Given the description of an element on the screen output the (x, y) to click on. 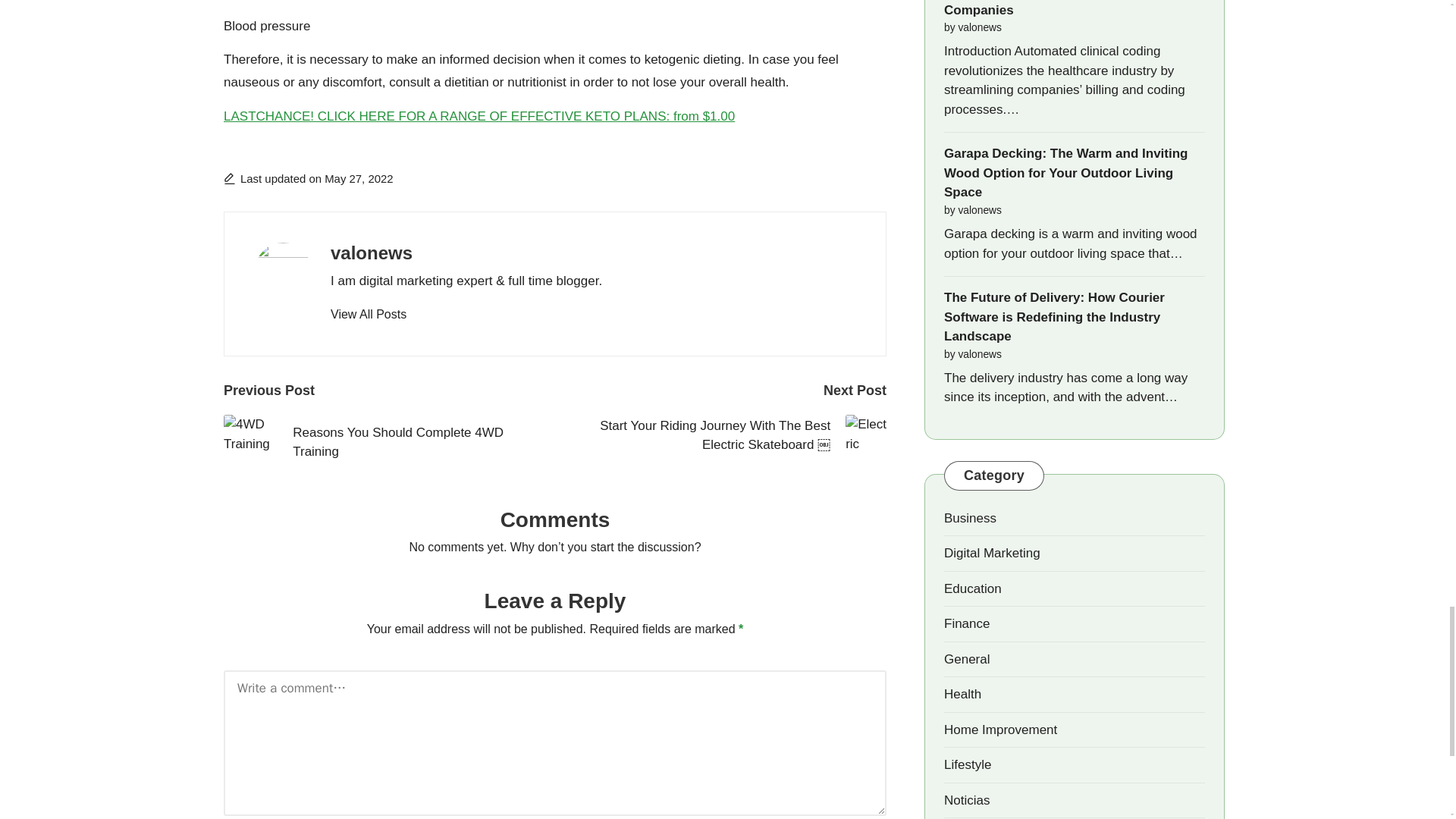
View All Posts (368, 314)
valonews (371, 252)
Reasons You Should Complete 4WD Training (389, 441)
